Given the description of an element on the screen output the (x, y) to click on. 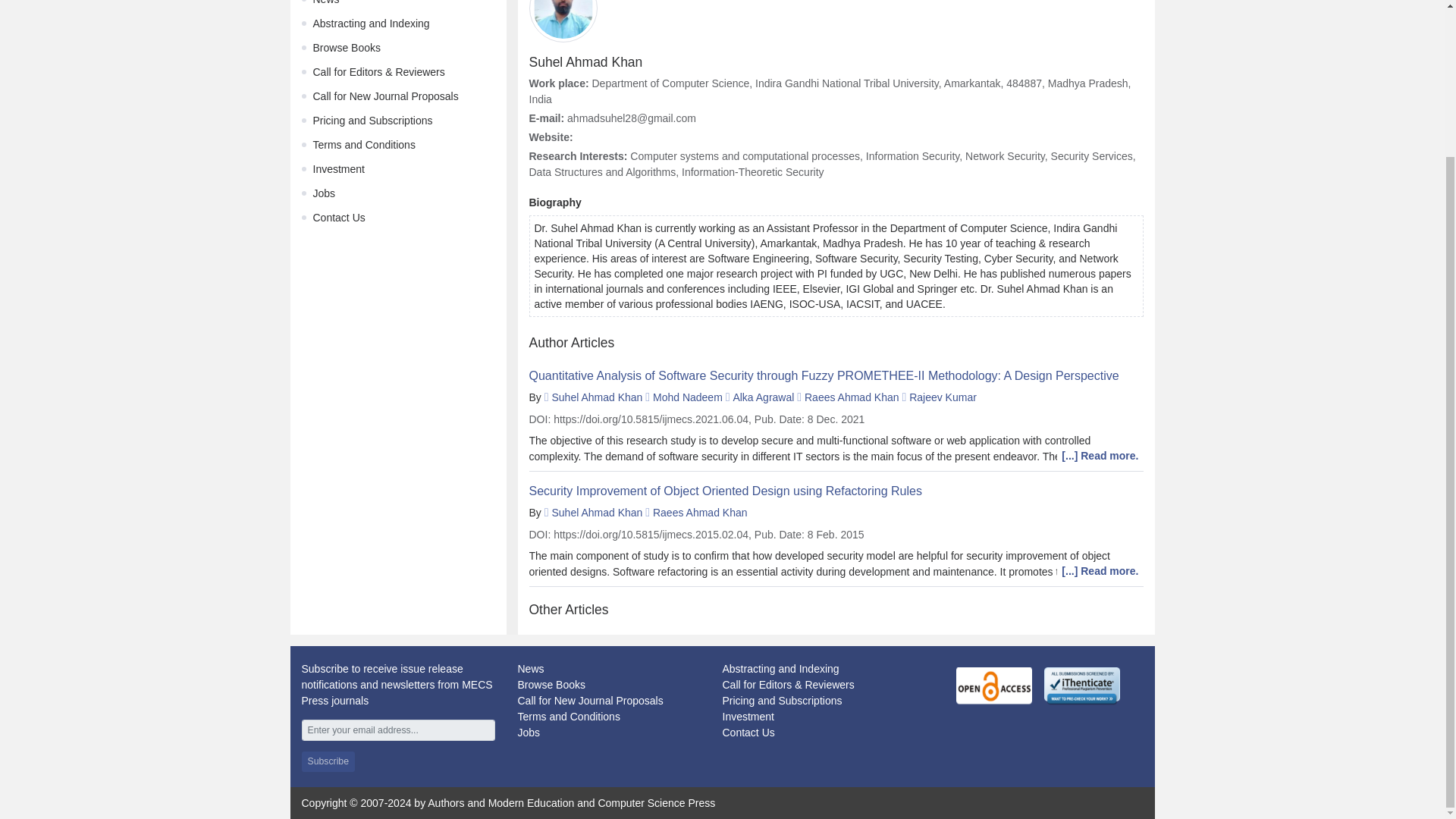
Pricing and Subscriptions (372, 120)
Alka Agrawal (762, 397)
Pricing and Subscriptions (781, 700)
Suhel Ahmad Khan (596, 512)
Subscribe (328, 761)
Browse Books (346, 47)
Investment (747, 716)
Contact Us (339, 217)
Abstracting and Indexing (371, 23)
